Given the description of an element on the screen output the (x, y) to click on. 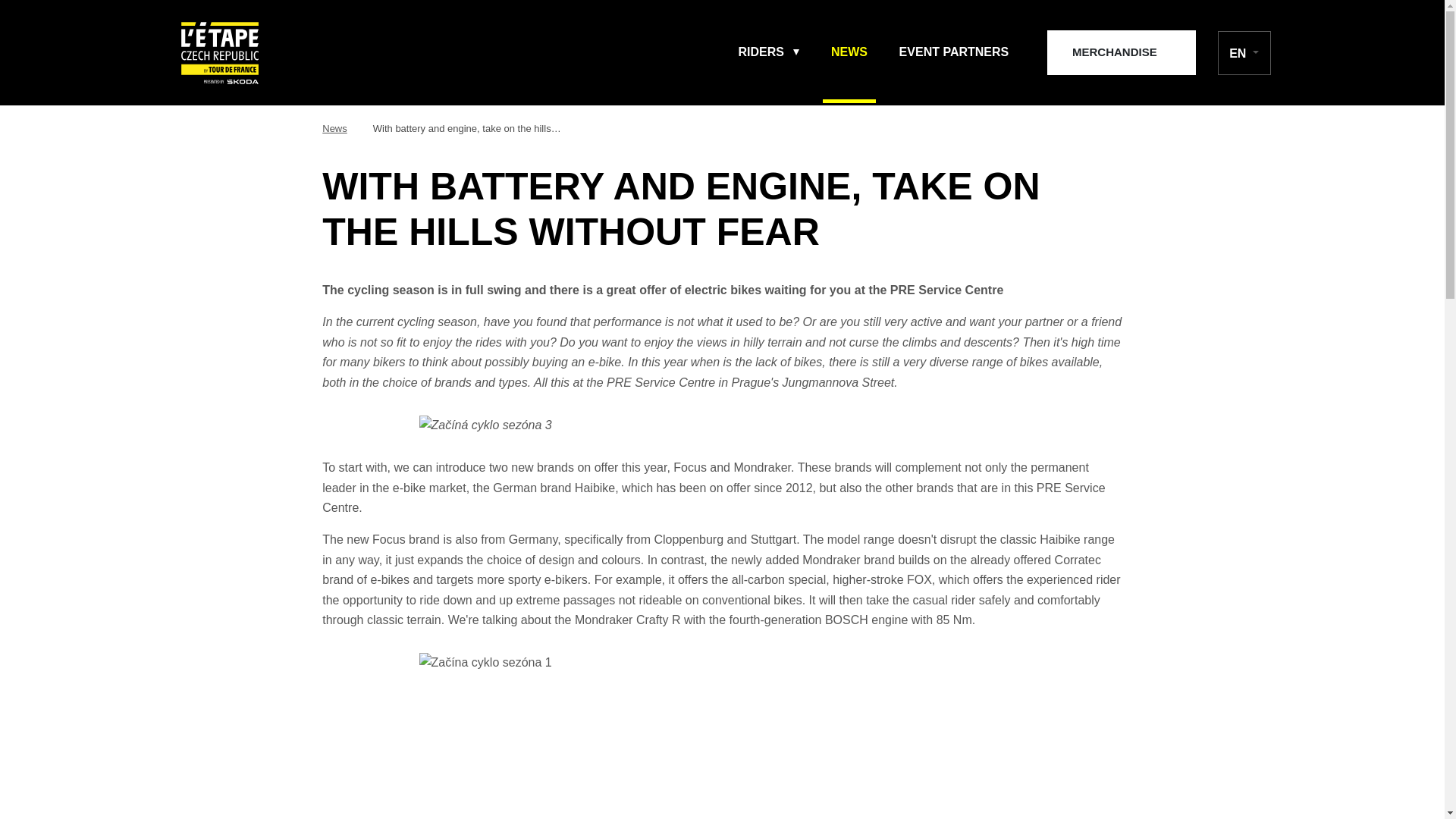
News (334, 128)
NEWS (849, 51)
MERCHANDISE (1120, 52)
RIDERS (768, 51)
EVENT PARTNERS (954, 51)
With battery and engine, take on the hills without fear (466, 128)
